Given the description of an element on the screen output the (x, y) to click on. 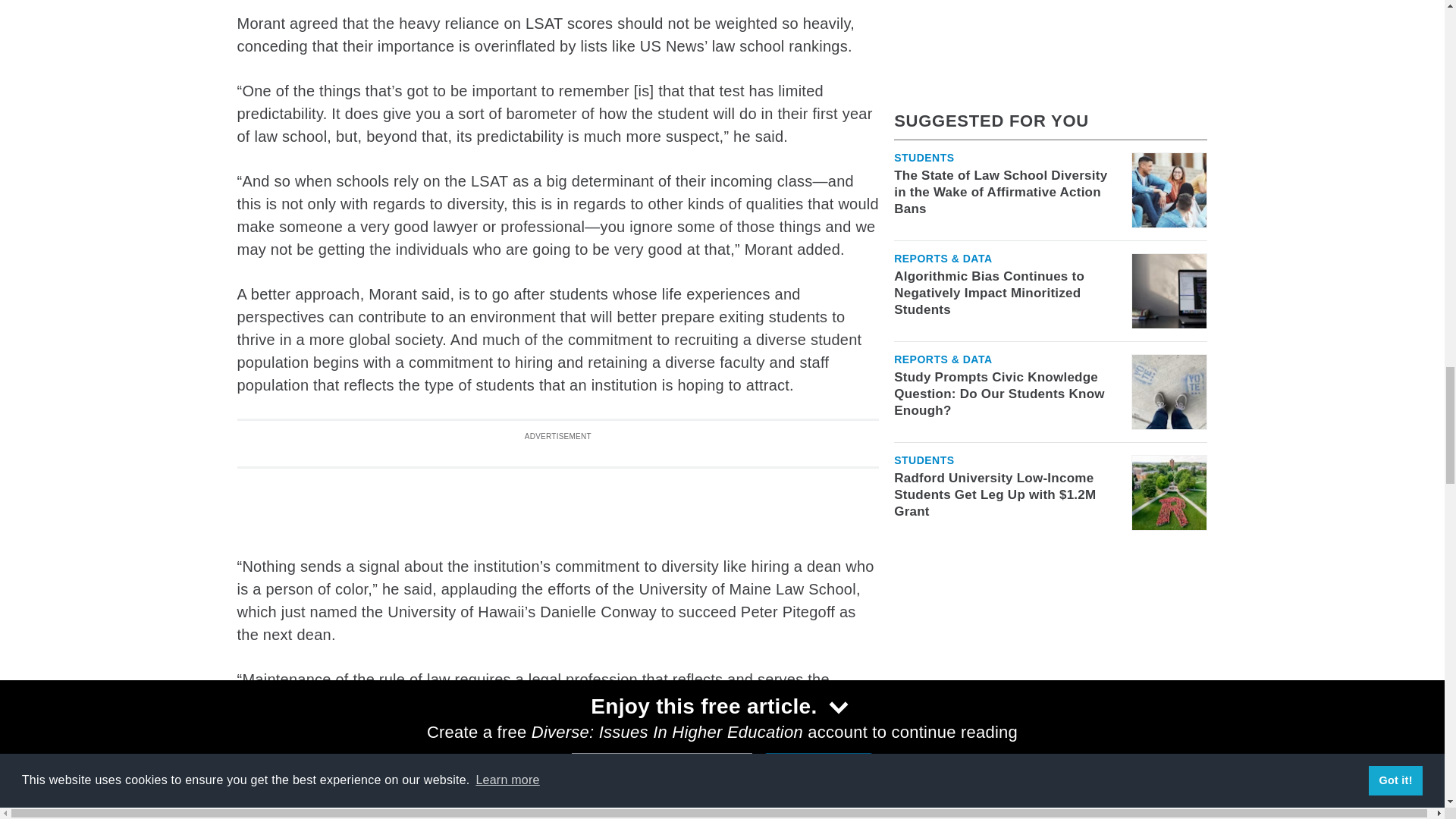
Home (389, 797)
